Given the description of an element on the screen output the (x, y) to click on. 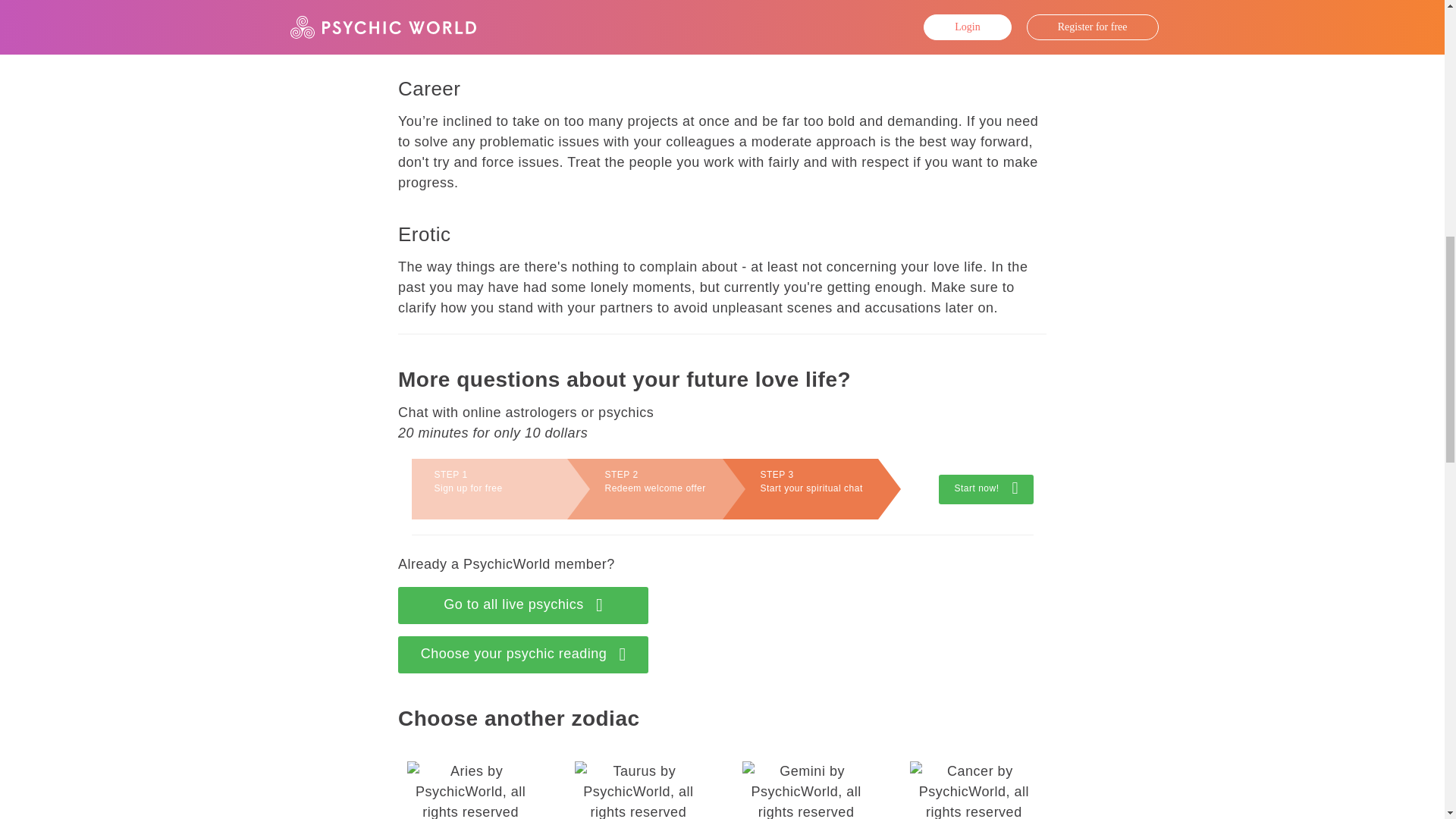
Start now! (973, 786)
Go to all live psychics (985, 489)
Choose your psychic reading (522, 605)
